Given the description of an element on the screen output the (x, y) to click on. 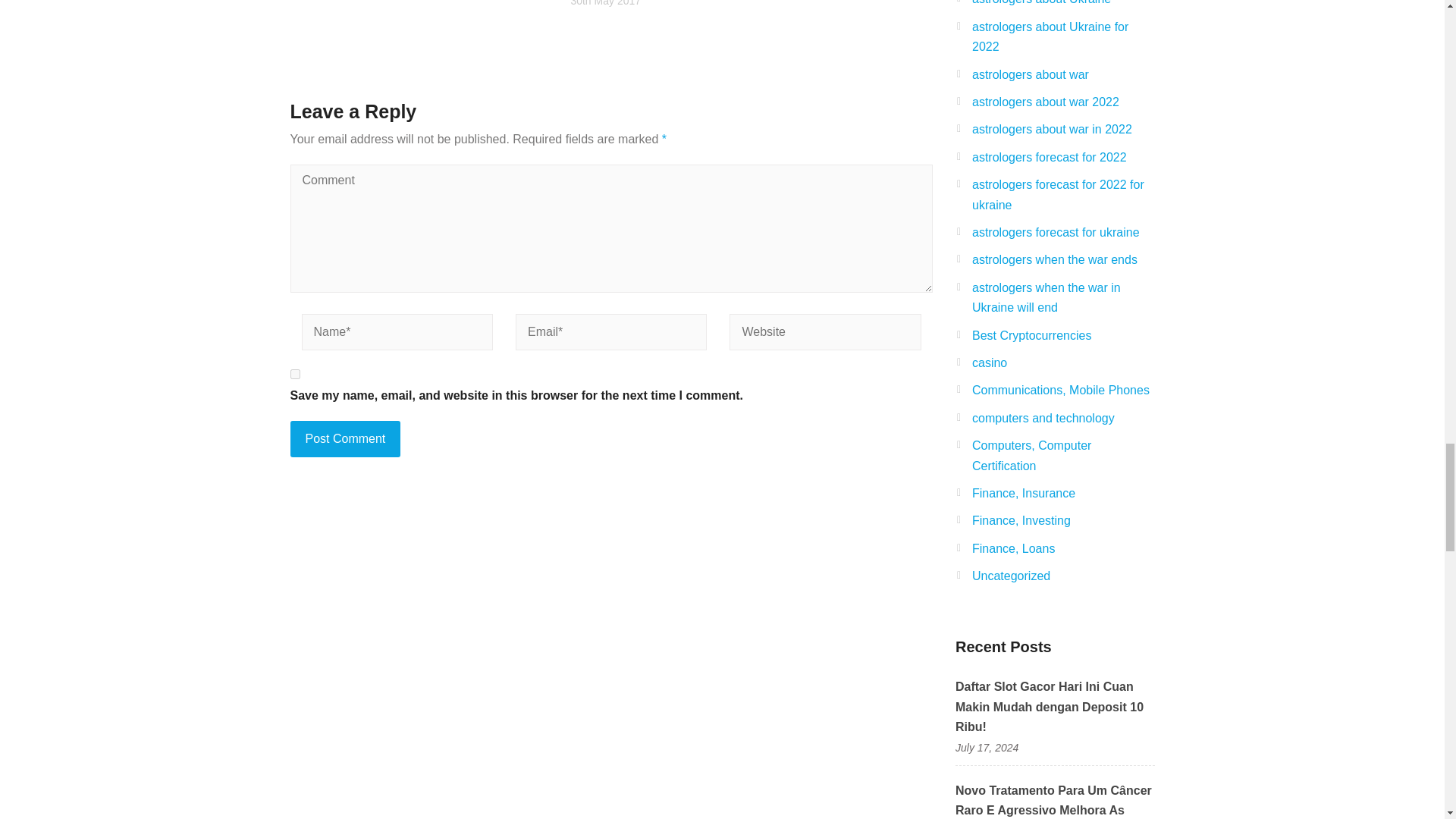
yes (294, 374)
Post Comment (344, 438)
